Given the description of an element on the screen output the (x, y) to click on. 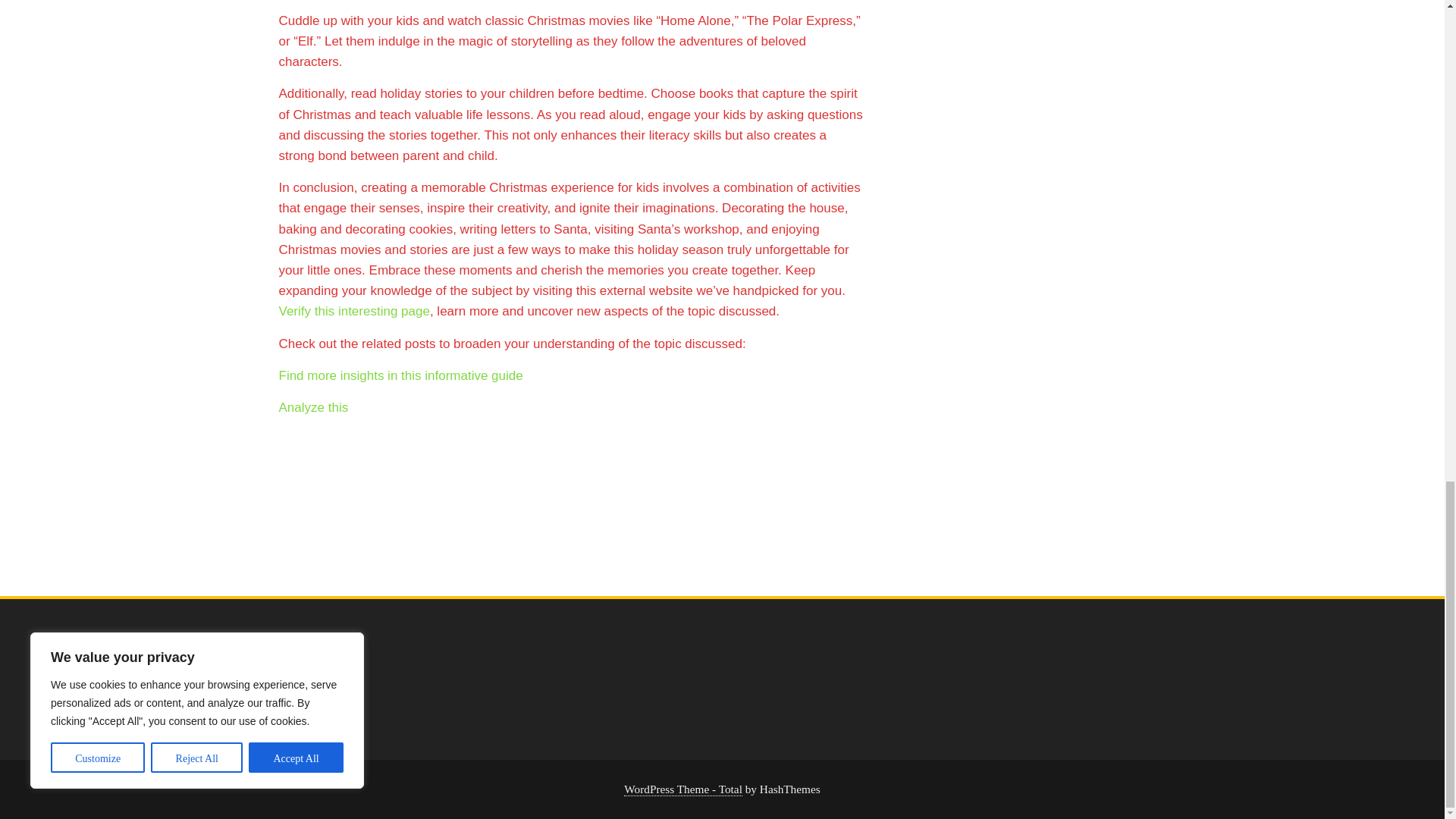
Analyze this (314, 407)
Verify this interesting page (354, 310)
Find more insights in this informative guide (400, 375)
